Given the description of an element on the screen output the (x, y) to click on. 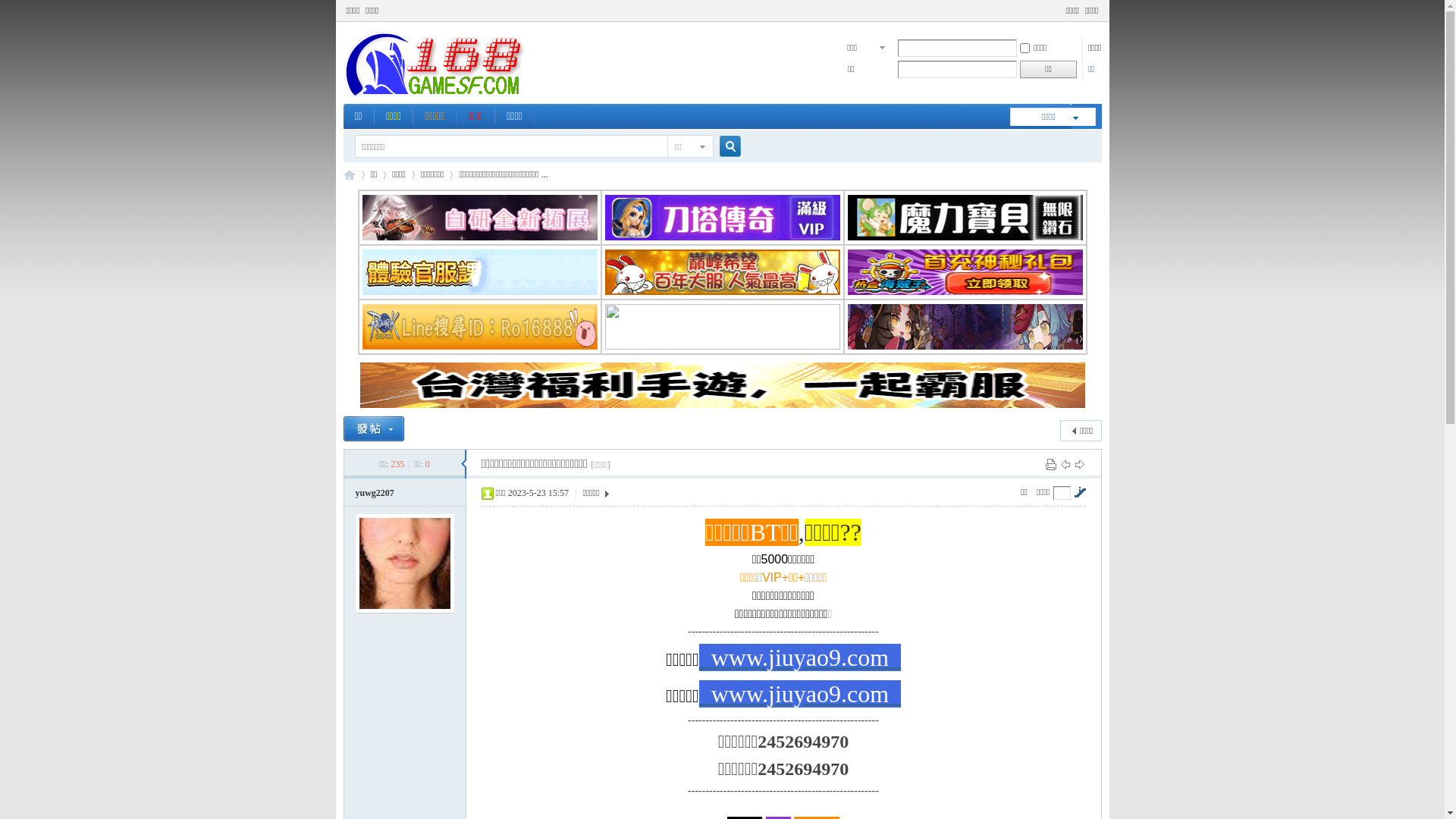
yuwg2207 Element type: text (373, 492)
  www.jiuyao9.com   Element type: text (799, 693)
  www.jiuyao9.com   Element type: text (799, 657)
true Element type: text (723, 146)
